Given the description of an element on the screen output the (x, y) to click on. 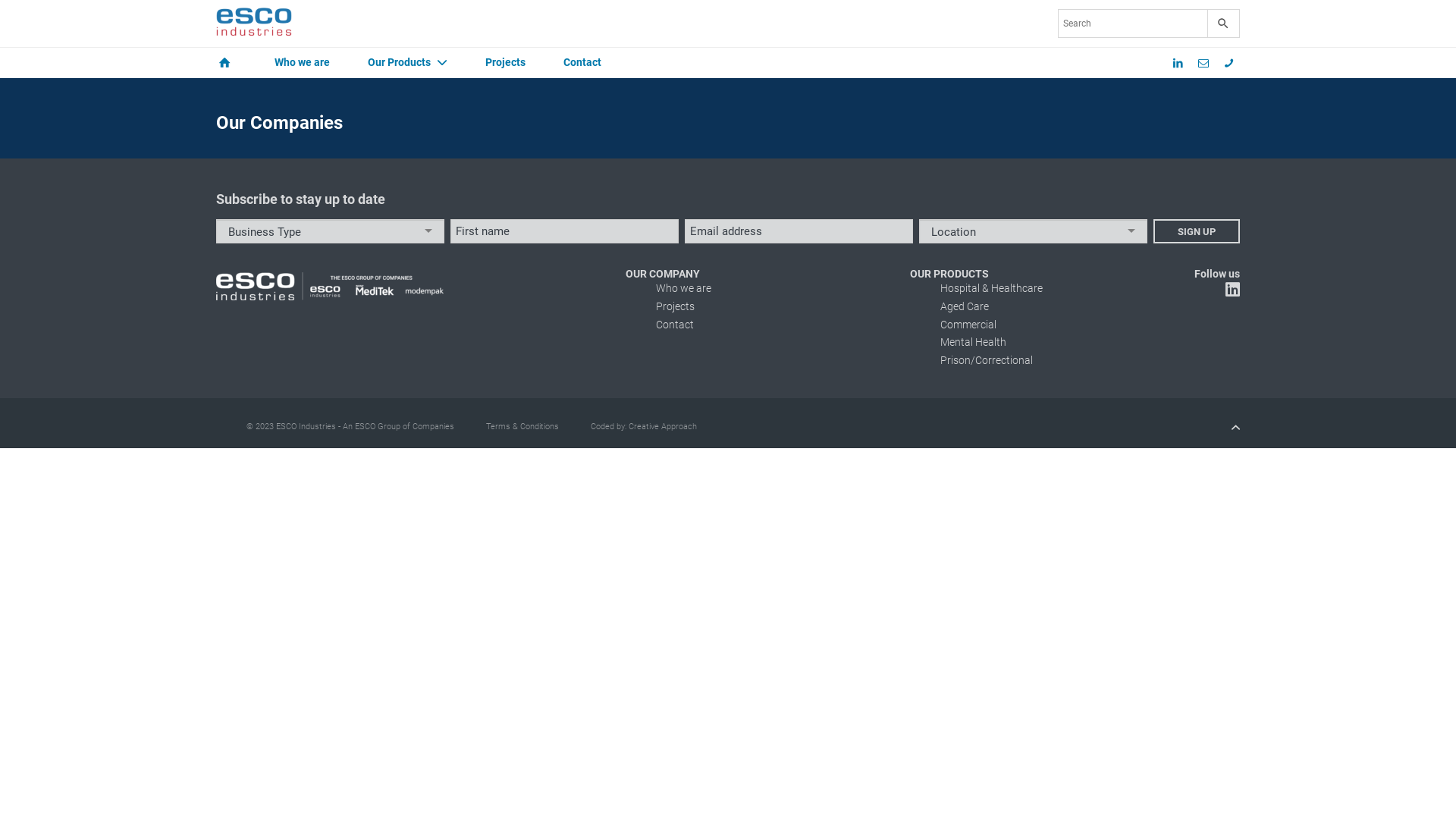
ESCO Industries Element type: hover (253, 23)
Terms & Conditions Element type: text (522, 426)
Projects Element type: text (674, 306)
Mental Health Element type: text (973, 341)
Projects Element type: text (505, 62)
Coded by: Creative Approach Element type: text (643, 426)
Contact Element type: text (674, 324)
Who we are Element type: text (683, 288)
Call us on 1300 879 363 Element type: hover (1228, 62)
Sign up Element type: text (1196, 231)
Who we are Element type: text (301, 62)
Prison/Correctional Element type: text (986, 360)
Commercial Element type: text (968, 324)
Follow us on Linkedin Element type: hover (1232, 291)
Contact Element type: text (582, 62)
Our Products Element type: text (403, 62)
Hospital & Healthcare Element type: text (991, 288)
Aged Care Element type: text (964, 306)
